Given the description of an element on the screen output the (x, y) to click on. 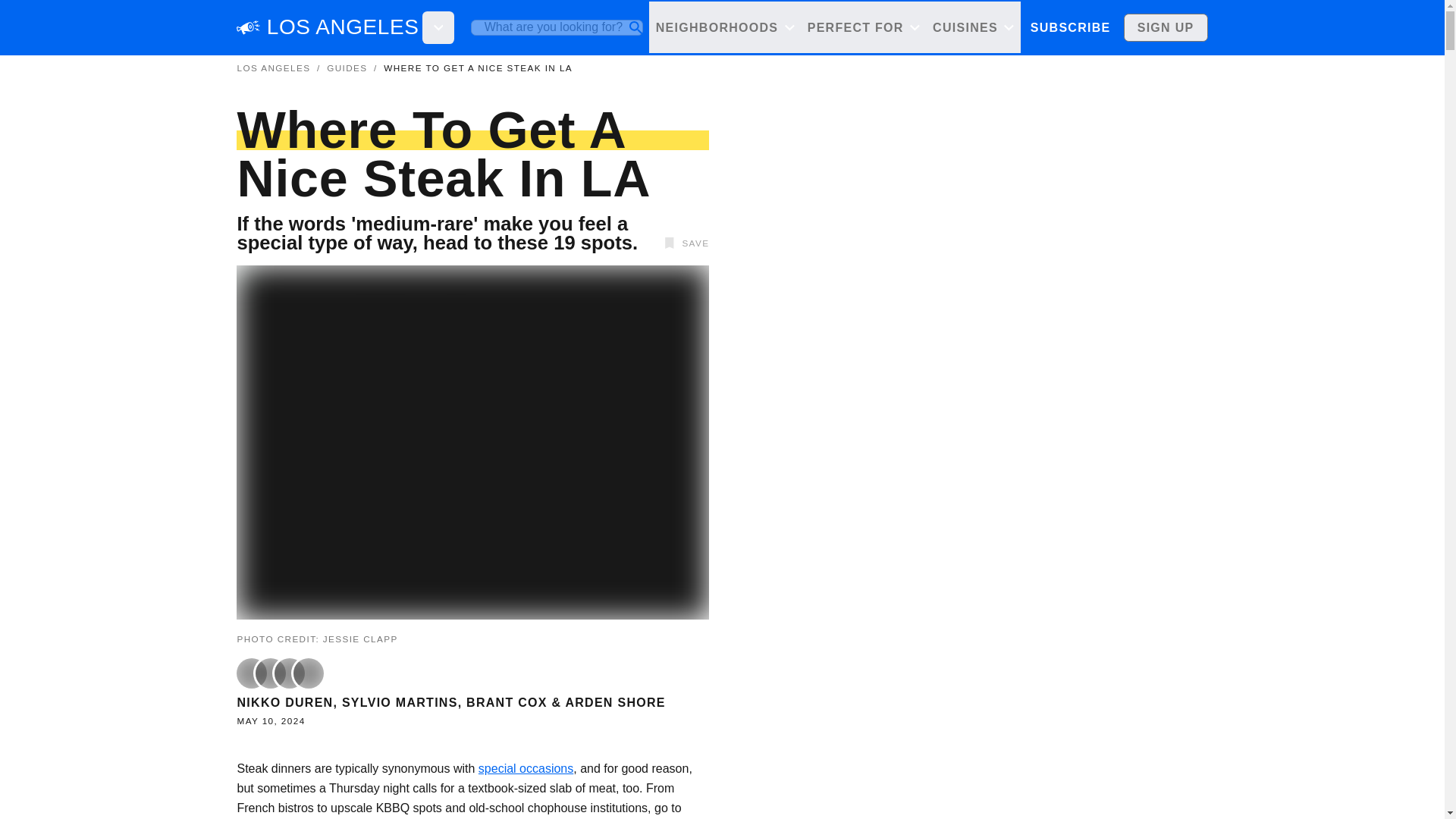
SAVE (684, 243)
special occasions (526, 768)
GUIDES (1053, 27)
REVIEWS (1123, 27)
LOS ANGELES (342, 26)
LOS ANGELES (272, 67)
CUISINES (973, 27)
NEIGHBORHOODS (724, 27)
GUIDES (346, 67)
SIGN UP (1166, 27)
What are you looking for? (556, 27)
SUBSCRIBE (1069, 27)
PERFECT FOR (863, 27)
